Given the description of an element on the screen output the (x, y) to click on. 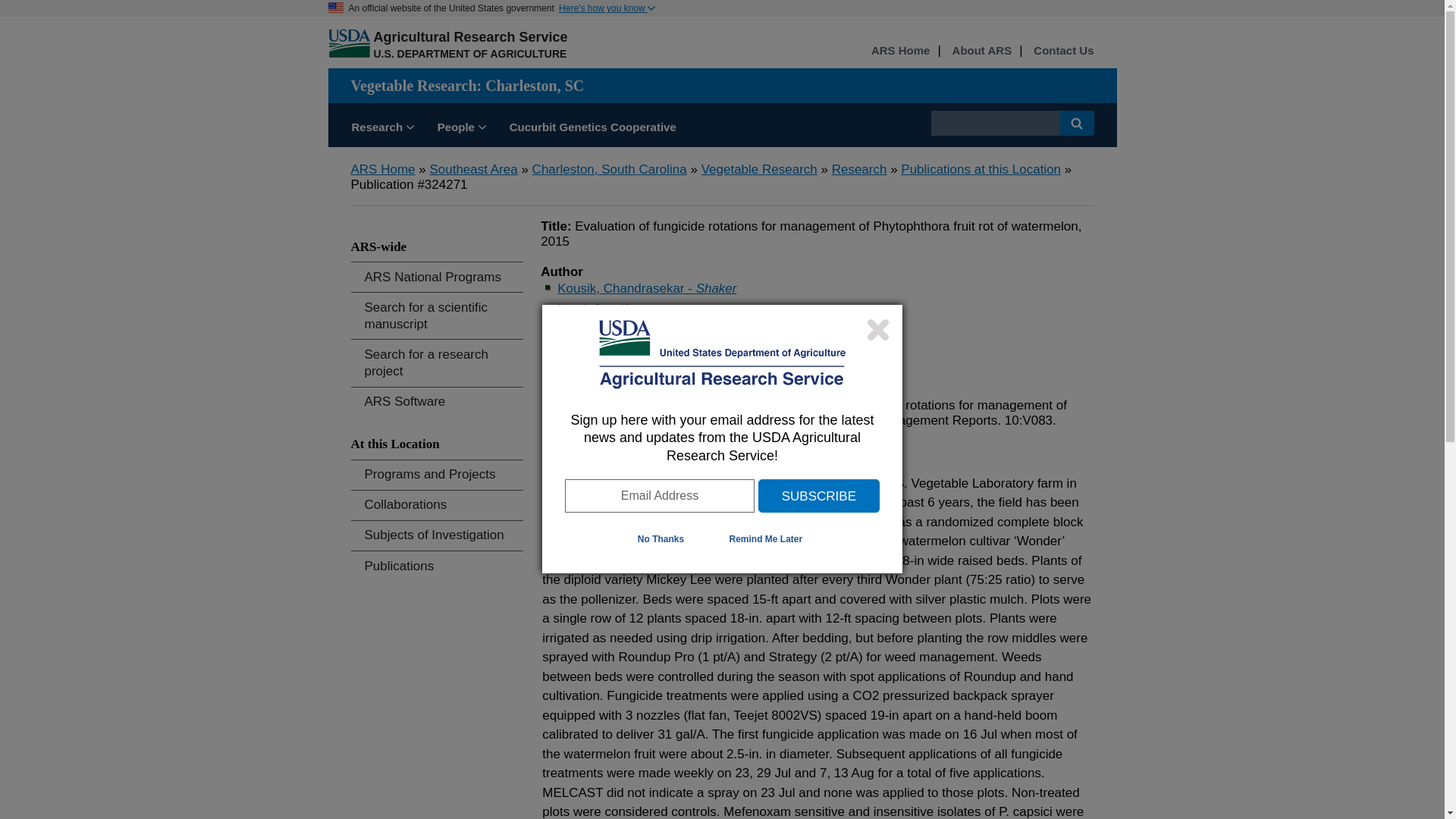
Southeast Area (472, 169)
Publications at this Location (981, 169)
Subscribe (818, 495)
Charleston, South Carolina (609, 169)
ARS Home (900, 50)
Here's how you know (607, 8)
About ARS (981, 50)
About ARS (981, 50)
Agricultural Research Service Home (469, 37)
ARS Home (382, 169)
search (995, 122)
Email Address (659, 495)
Vegetable Research (758, 169)
Close subscription dialog (877, 328)
Search for a research project (436, 362)
